Given the description of an element on the screen output the (x, y) to click on. 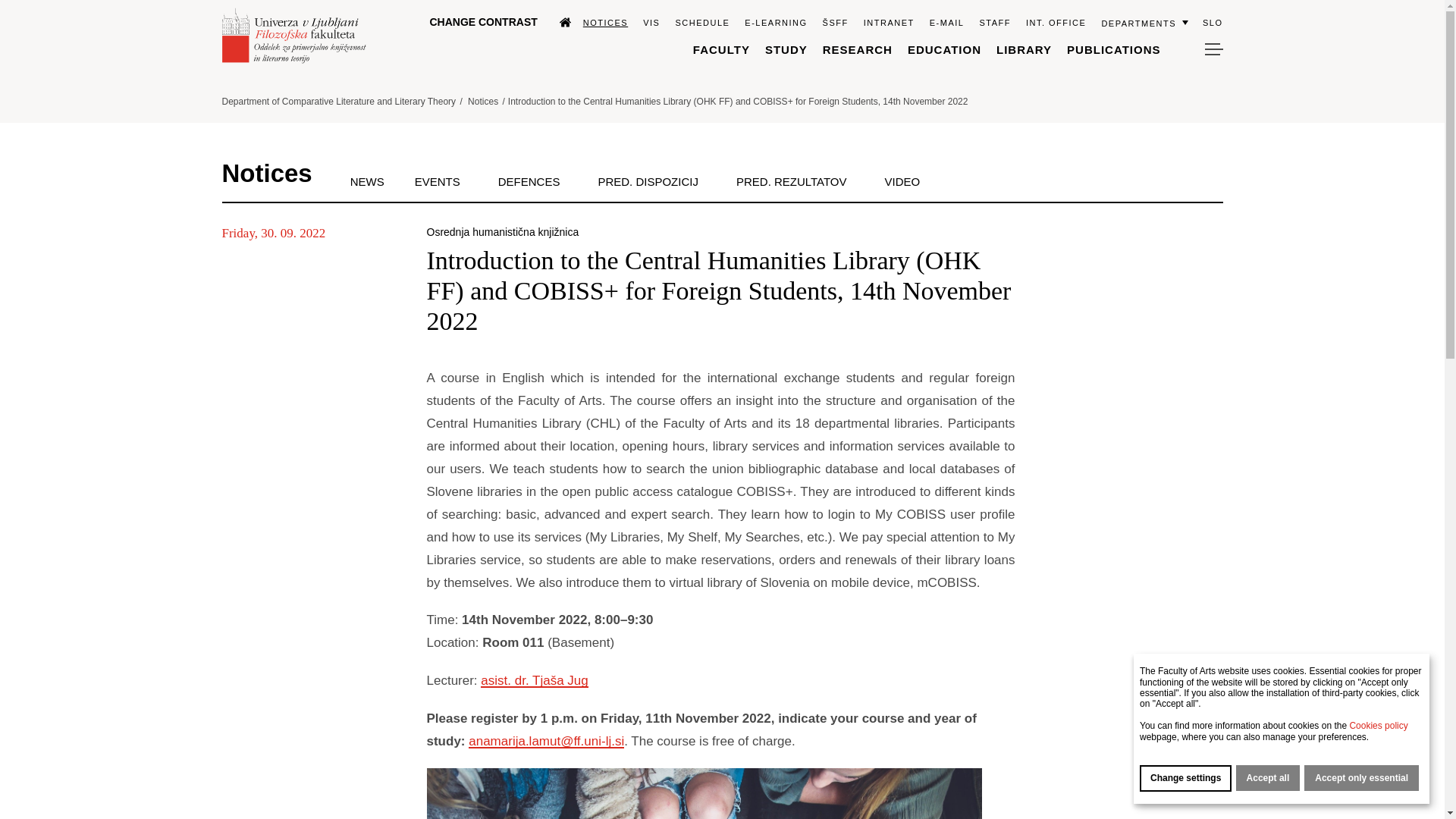
E-MAIL (946, 22)
Urnik (702, 22)
Intranet (888, 22)
HOME (558, 21)
SCHEDULE (702, 22)
VIS (651, 22)
SLO (1212, 22)
Zaposleni (994, 22)
